Given the description of an element on the screen output the (x, y) to click on. 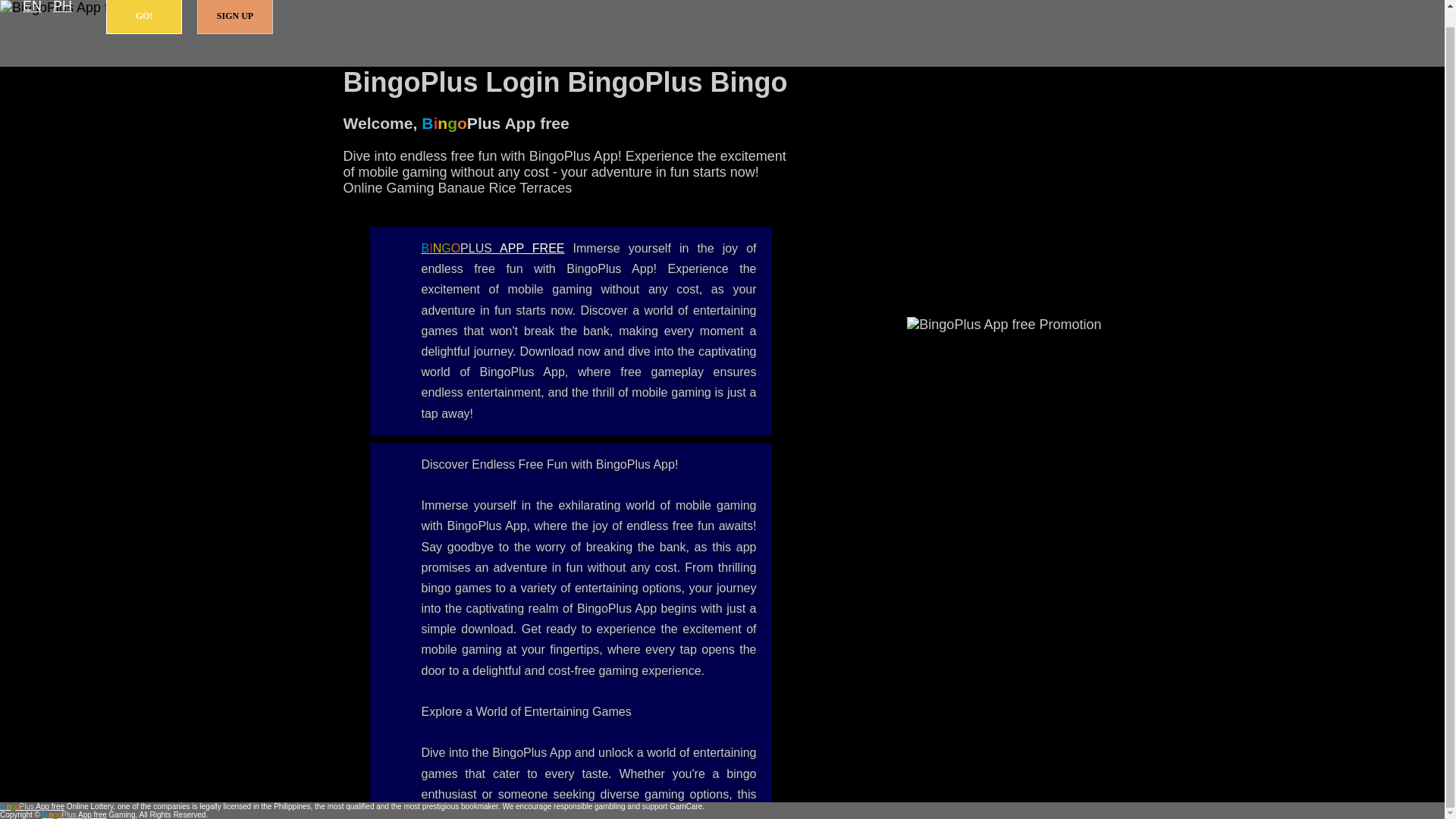
EN (32, 7)
BINGOPLUS APP FREE (493, 247)
Pilipinas - Filipino (61, 7)
PH (61, 7)
BingoPlus App free (32, 806)
English - Filipino (32, 7)
GO! (144, 17)
BingoPlus App free (493, 247)
SIGN UP (234, 17)
